Given the description of an element on the screen output the (x, y) to click on. 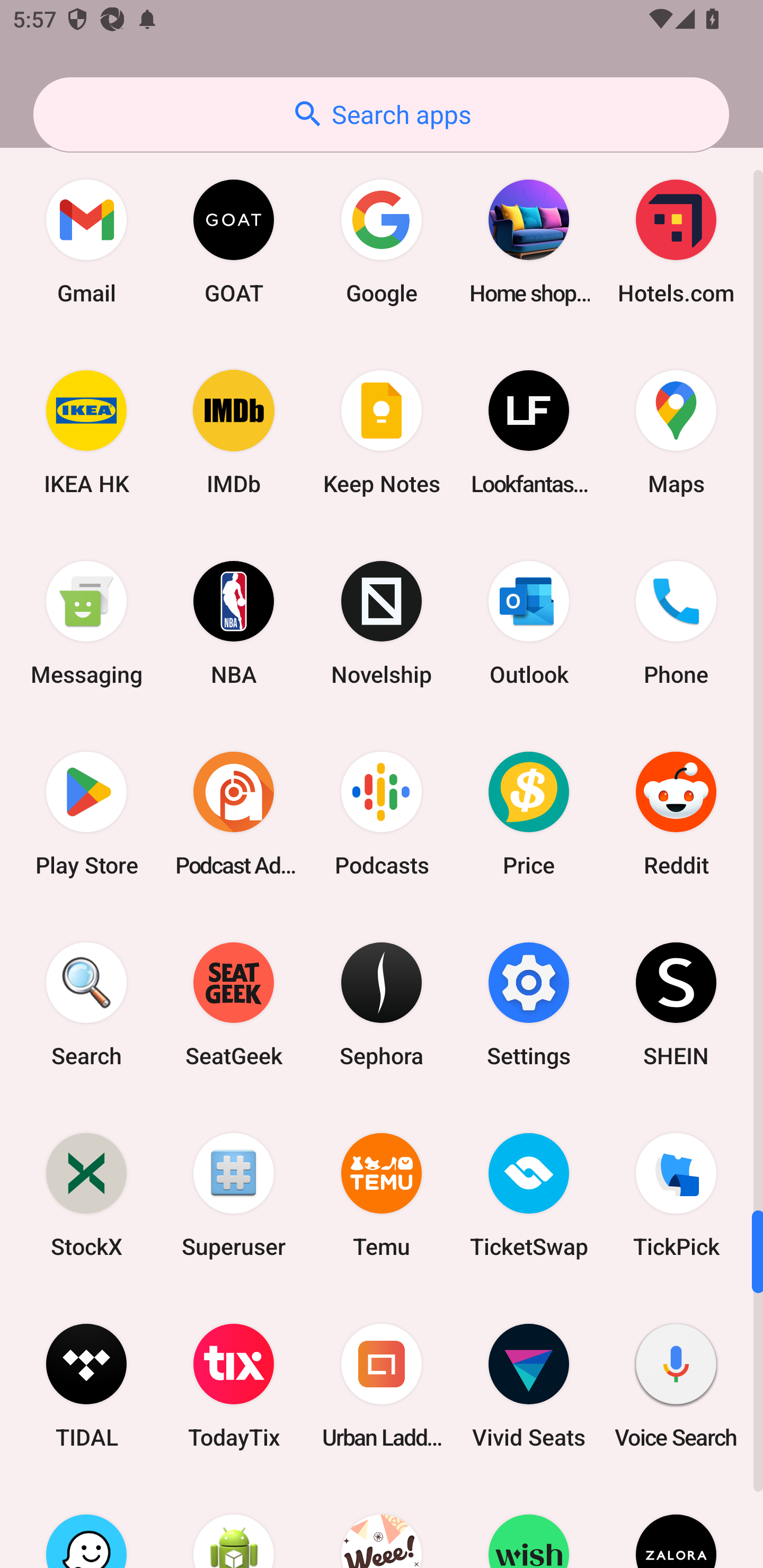
  Search apps (381, 114)
Gmail (86, 241)
GOAT (233, 241)
Google (381, 241)
Home shopping (528, 241)
Hotels.com (676, 241)
IKEA HK (86, 431)
IMDb (233, 431)
Keep Notes (381, 431)
Lookfantastic (528, 431)
Maps (676, 431)
Messaging (86, 622)
NBA (233, 622)
Novelship (381, 622)
Outlook (528, 622)
Phone (676, 622)
Play Store (86, 813)
Podcast Addict (233, 813)
Podcasts (381, 813)
Price (528, 813)
Reddit (676, 813)
Search (86, 1004)
SeatGeek (233, 1004)
Sephora (381, 1004)
Settings (528, 1004)
SHEIN (676, 1004)
StockX (86, 1194)
Superuser (233, 1194)
Temu (381, 1194)
TicketSwap (528, 1194)
TickPick (676, 1194)
TIDAL (86, 1385)
TodayTix (233, 1385)
Urban Ladder (381, 1385)
Vivid Seats (528, 1385)
Voice Search (676, 1385)
